Given the description of an element on the screen output the (x, y) to click on. 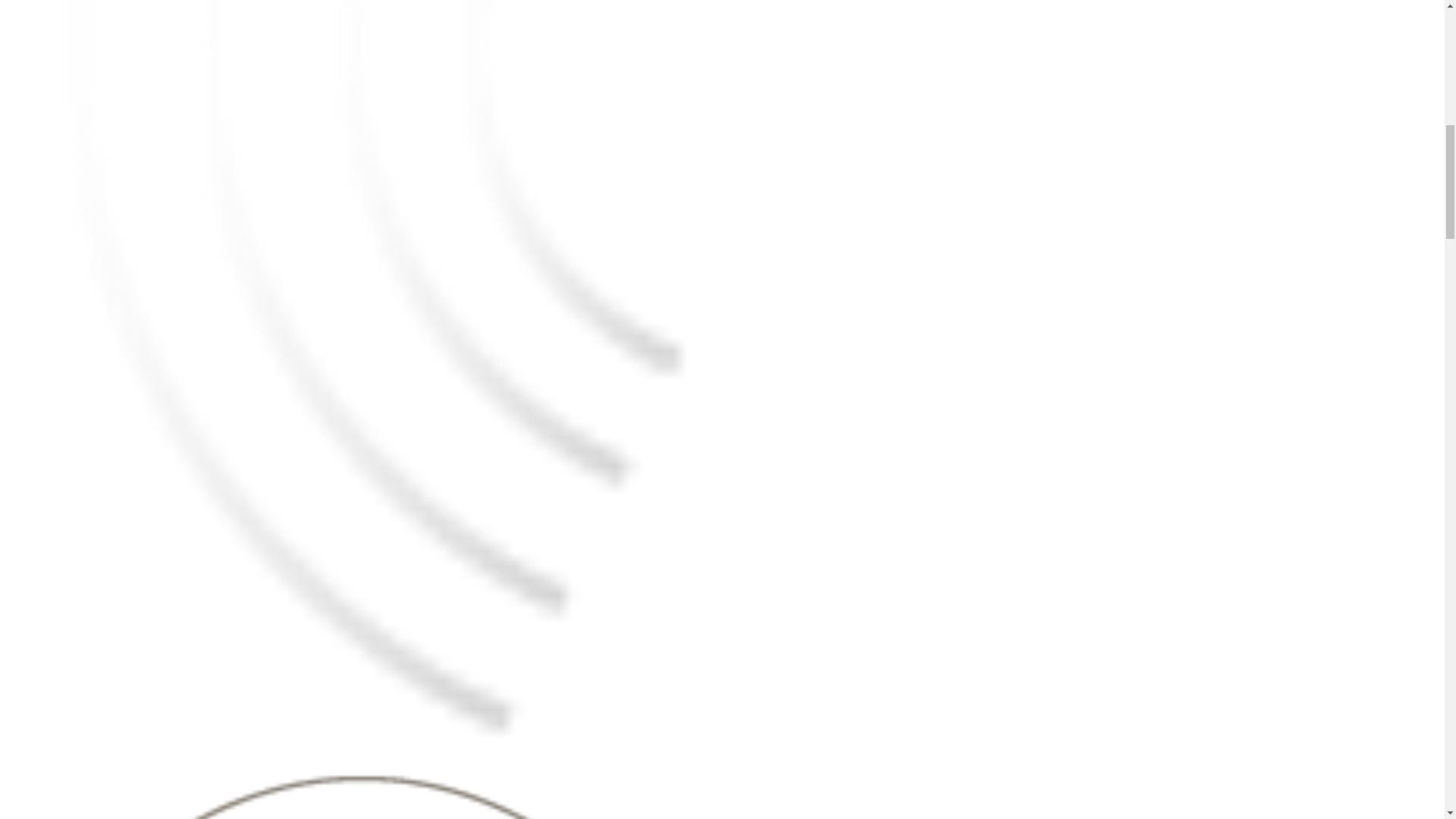
air duct (363, 790)
